Given the description of an element on the screen output the (x, y) to click on. 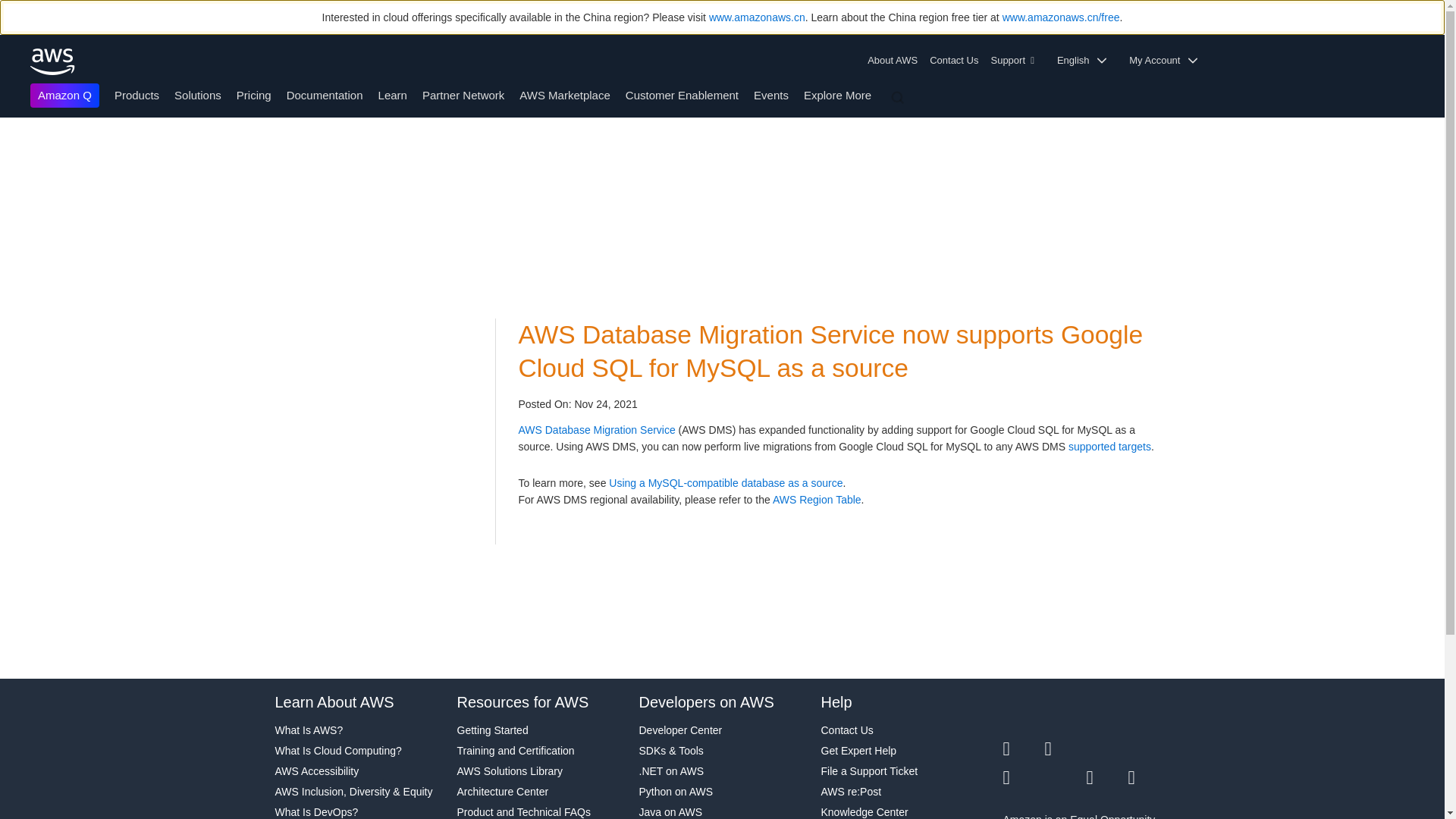
Instagram (1149, 749)
Learn (392, 94)
www.amazonaws.cn (757, 17)
Explore More (836, 94)
Contact Us (953, 60)
Twitch (1023, 777)
Facebook (1065, 749)
Customer Enablement (682, 94)
About AWS (895, 60)
Pricing (252, 94)
English   (1086, 60)
Podcast (1106, 777)
Documentation (324, 94)
Skip to main content (7, 146)
AWS Marketplace (564, 94)
